Given the description of an element on the screen output the (x, y) to click on. 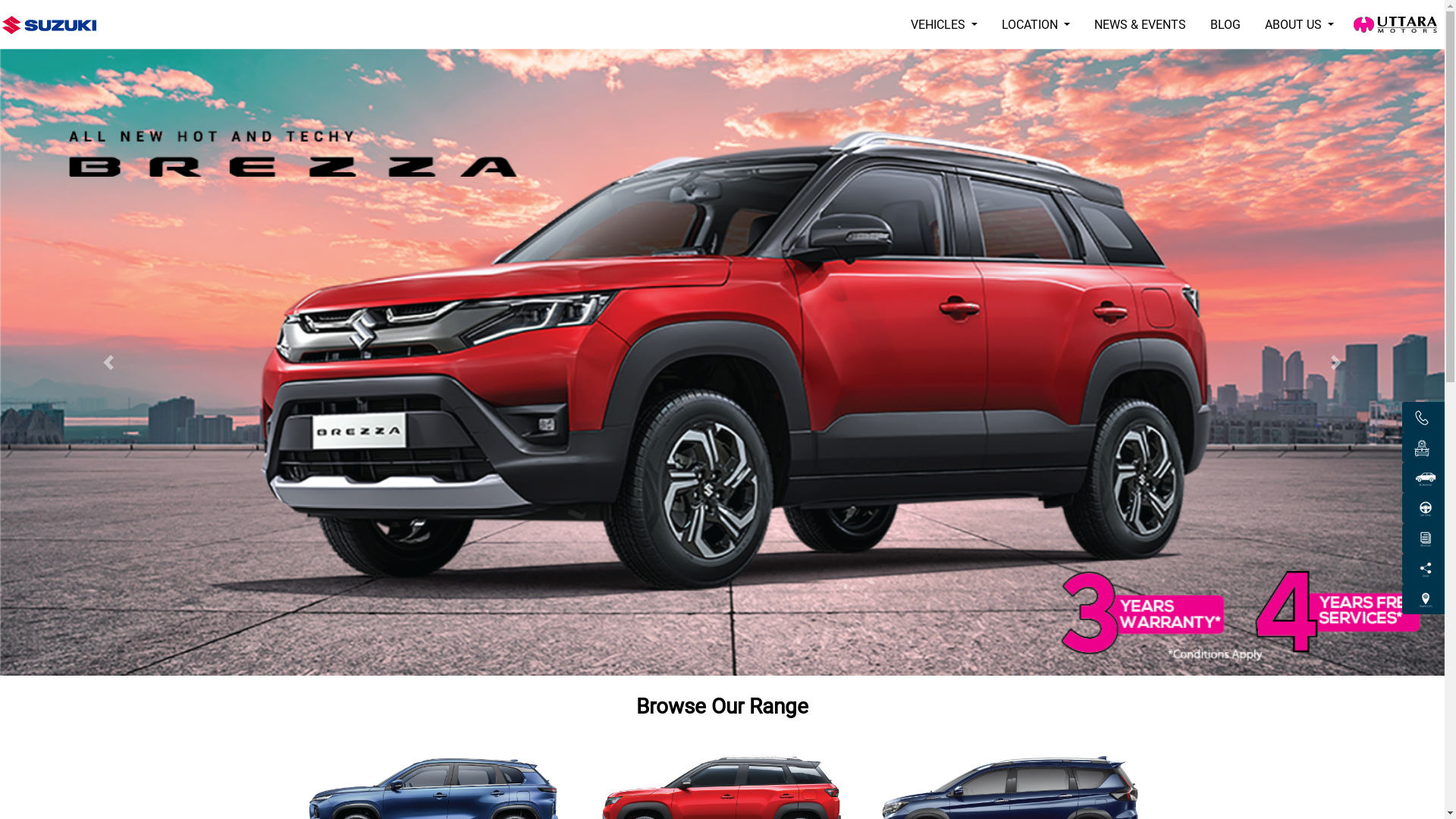
NEWS & EVENTS Element type: text (1140, 24)
SUZUKI Brezza Element type: hover (722, 361)
ABOUT US Element type: text (1299, 24)
Next Element type: text (1335, 361)
Previous Element type: text (108, 361)
LOCATION Element type: text (1035, 24)
BLOG Element type: text (1225, 24)
VEHICLES Element type: text (943, 24)
